Given the description of an element on the screen output the (x, y) to click on. 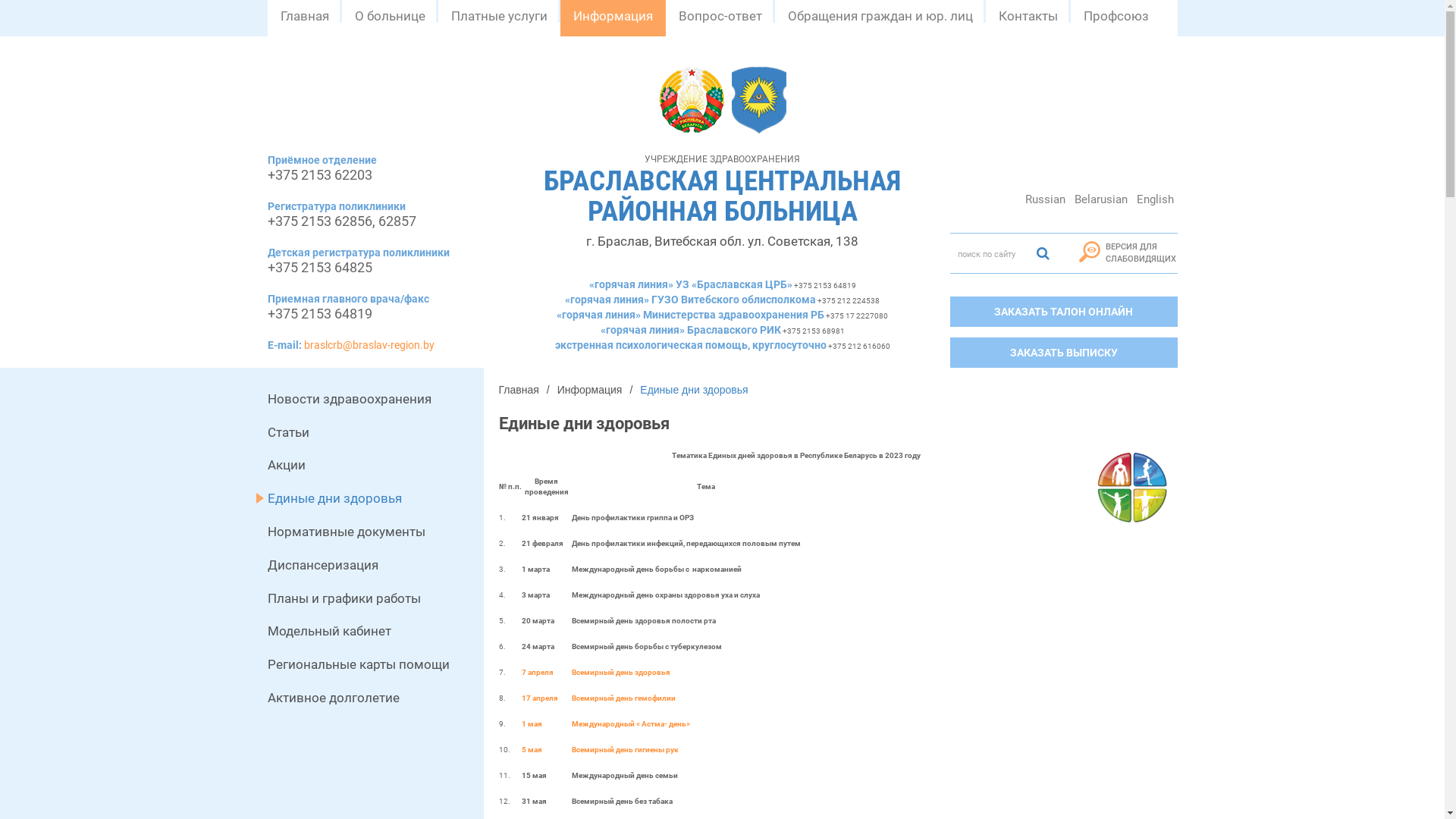
English Element type: text (1154, 199)
braslcrb@braslav-region.by Element type: text (368, 344)
Russian Element type: text (1044, 199)
Belarusian Element type: text (1100, 199)
